Given the description of an element on the screen output the (x, y) to click on. 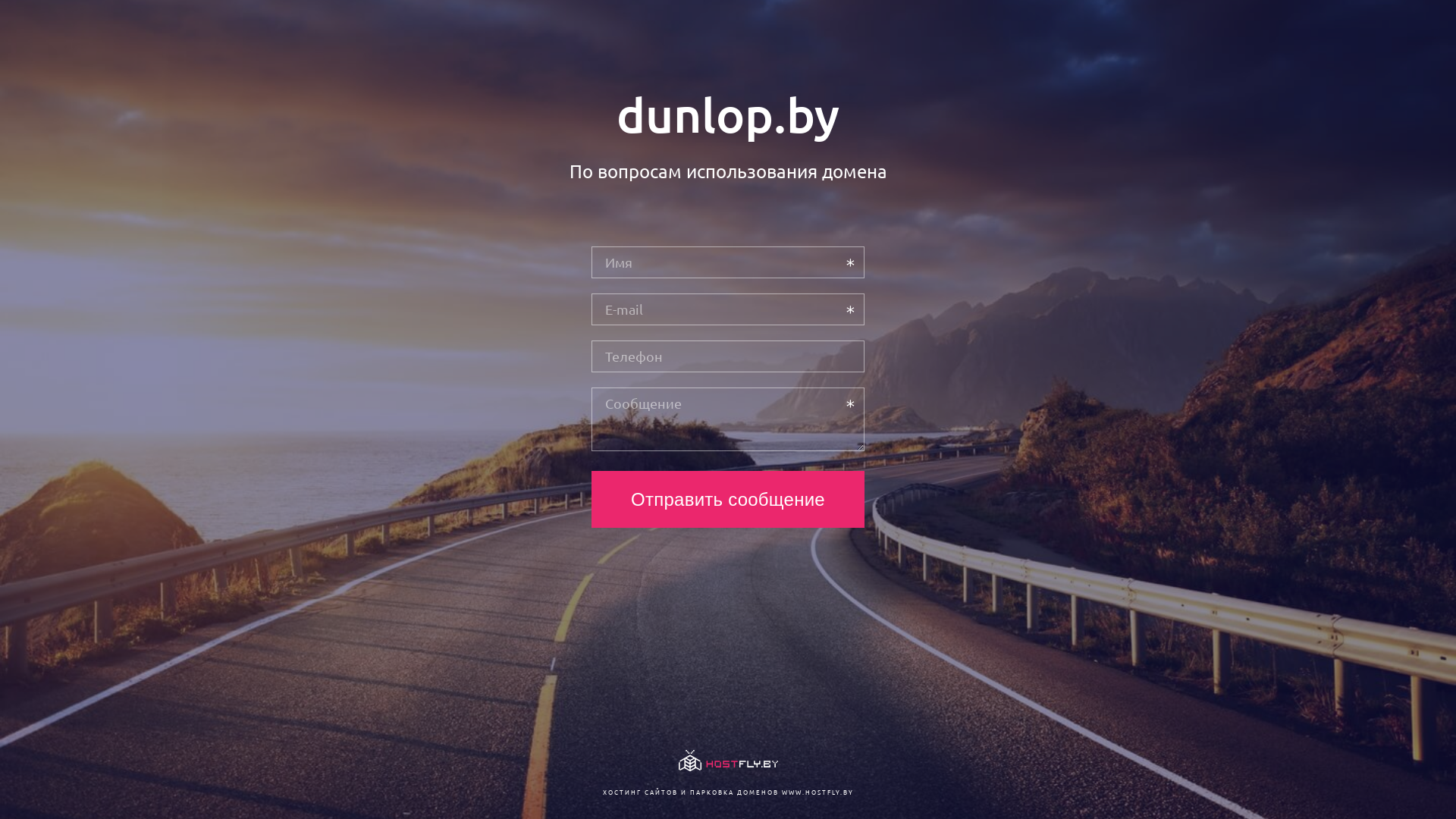
WWW.HOSTFLY.BY Element type: text (817, 791)
